Given the description of an element on the screen output the (x, y) to click on. 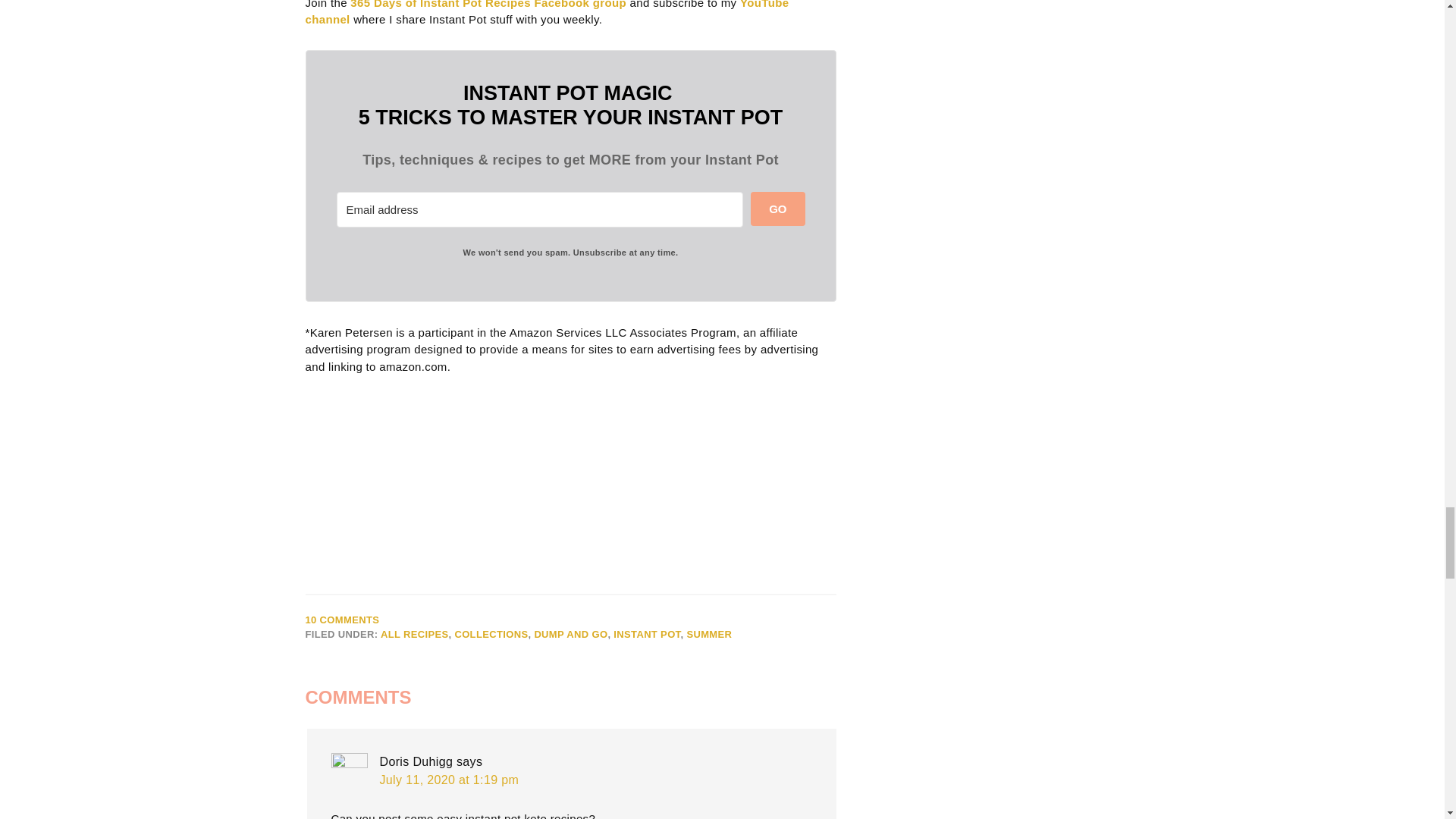
YouTube channel (546, 13)
365 Days of Instant Pot Recipes Facebook group (488, 4)
GO (778, 208)
